Given the description of an element on the screen output the (x, y) to click on. 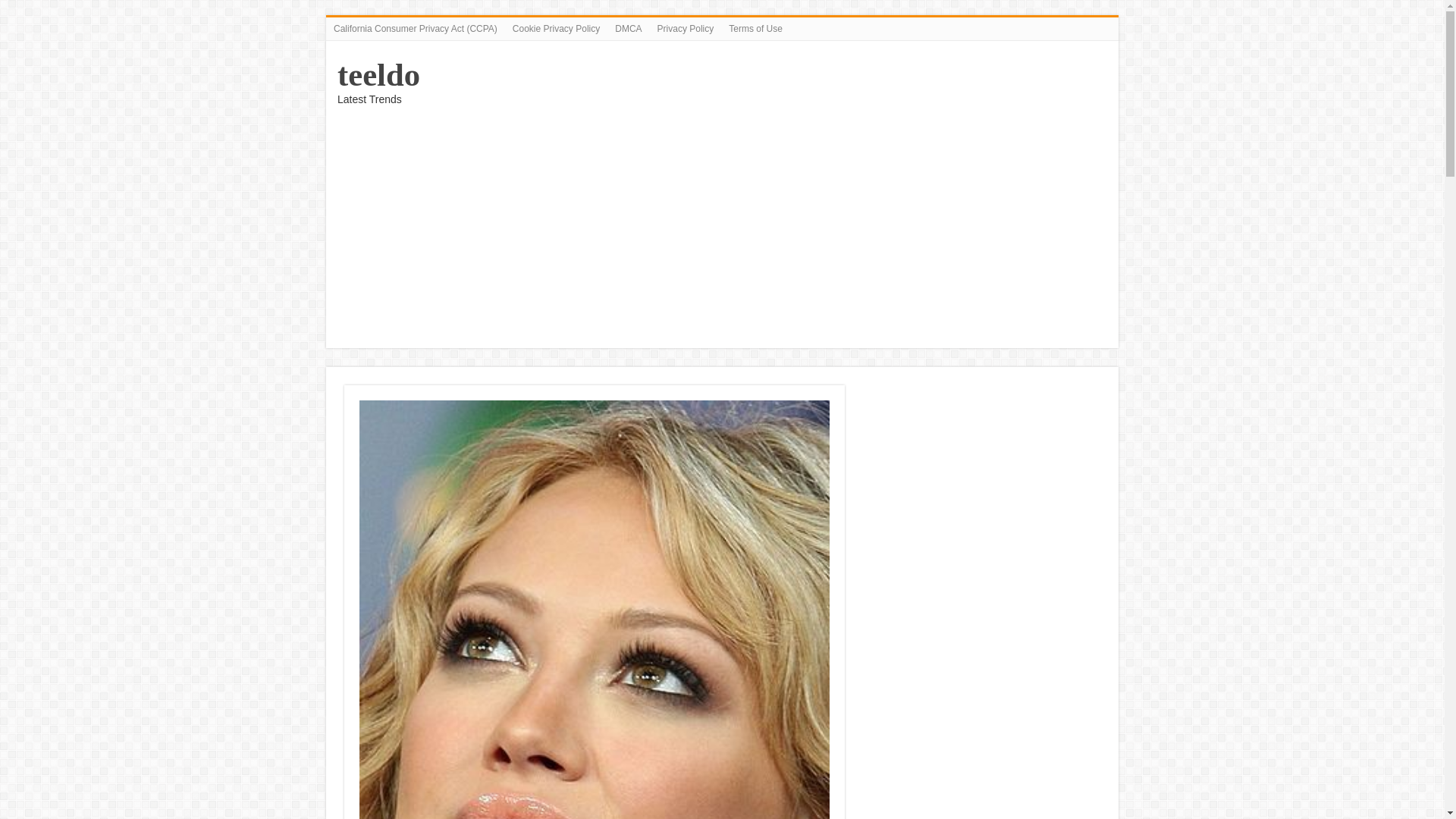
teeldo (378, 74)
Cookie Privacy Policy (556, 28)
DMCA (628, 28)
Advertisement (982, 491)
Privacy Policy (685, 28)
Terms of Use (755, 28)
